Given the description of an element on the screen output the (x, y) to click on. 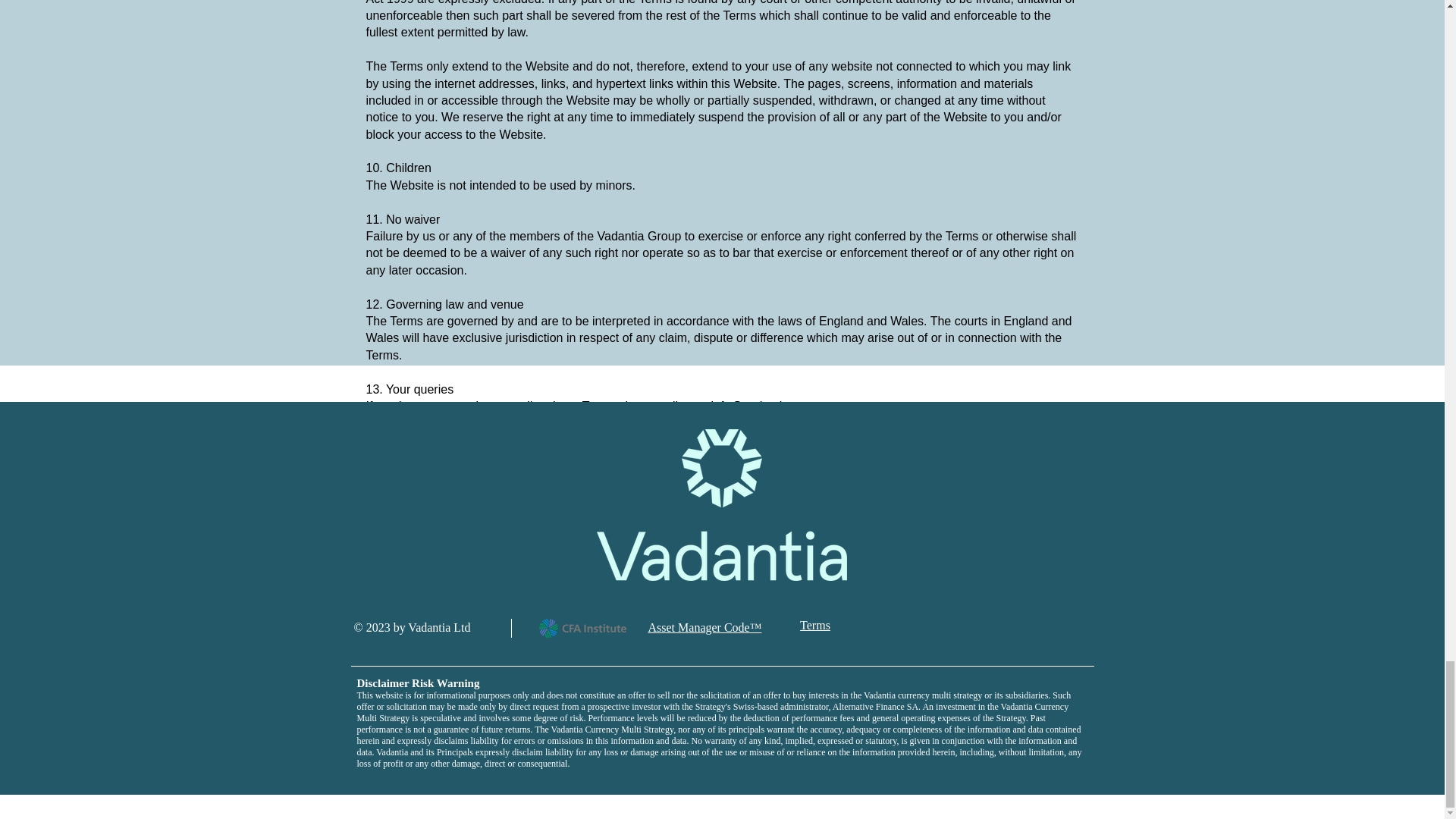
Terms (814, 625)
